Given the description of an element on the screen output the (x, y) to click on. 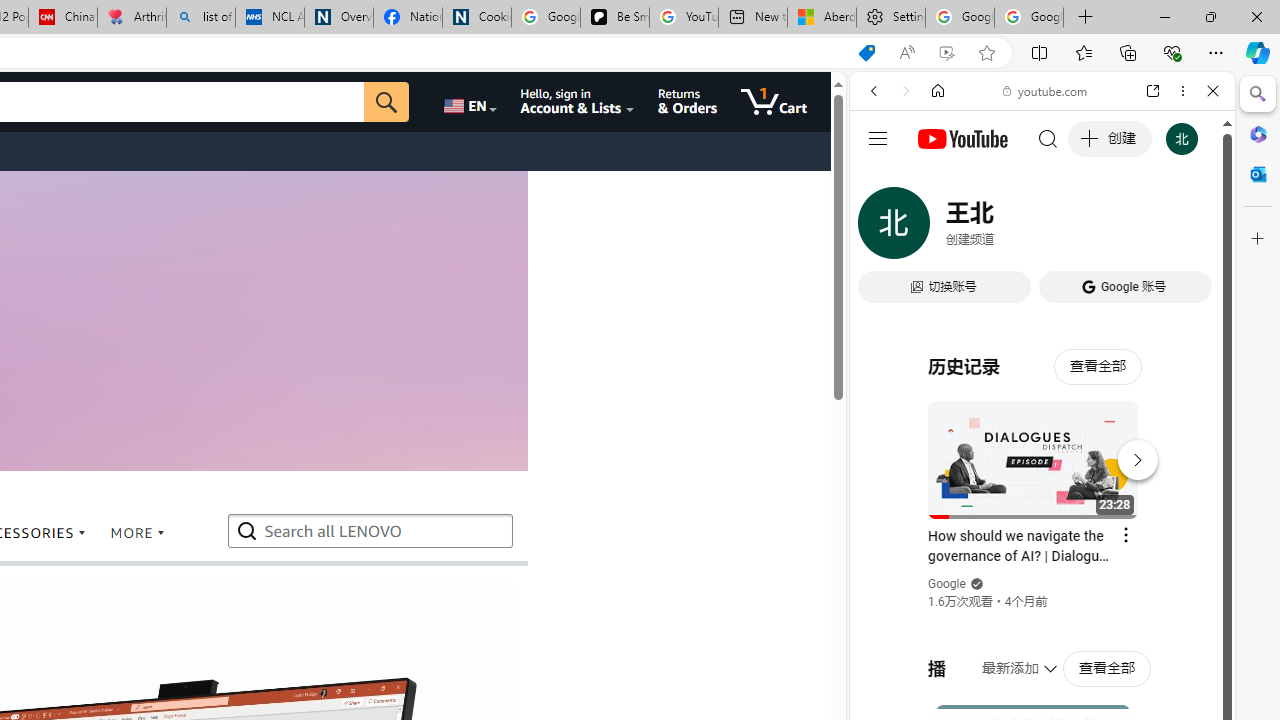
Search all LENOVO (371, 530)
Hello, sign in Account & Lists (576, 101)
Enhance video (946, 53)
Returns & Orders (686, 101)
